Given the description of an element on the screen output the (x, y) to click on. 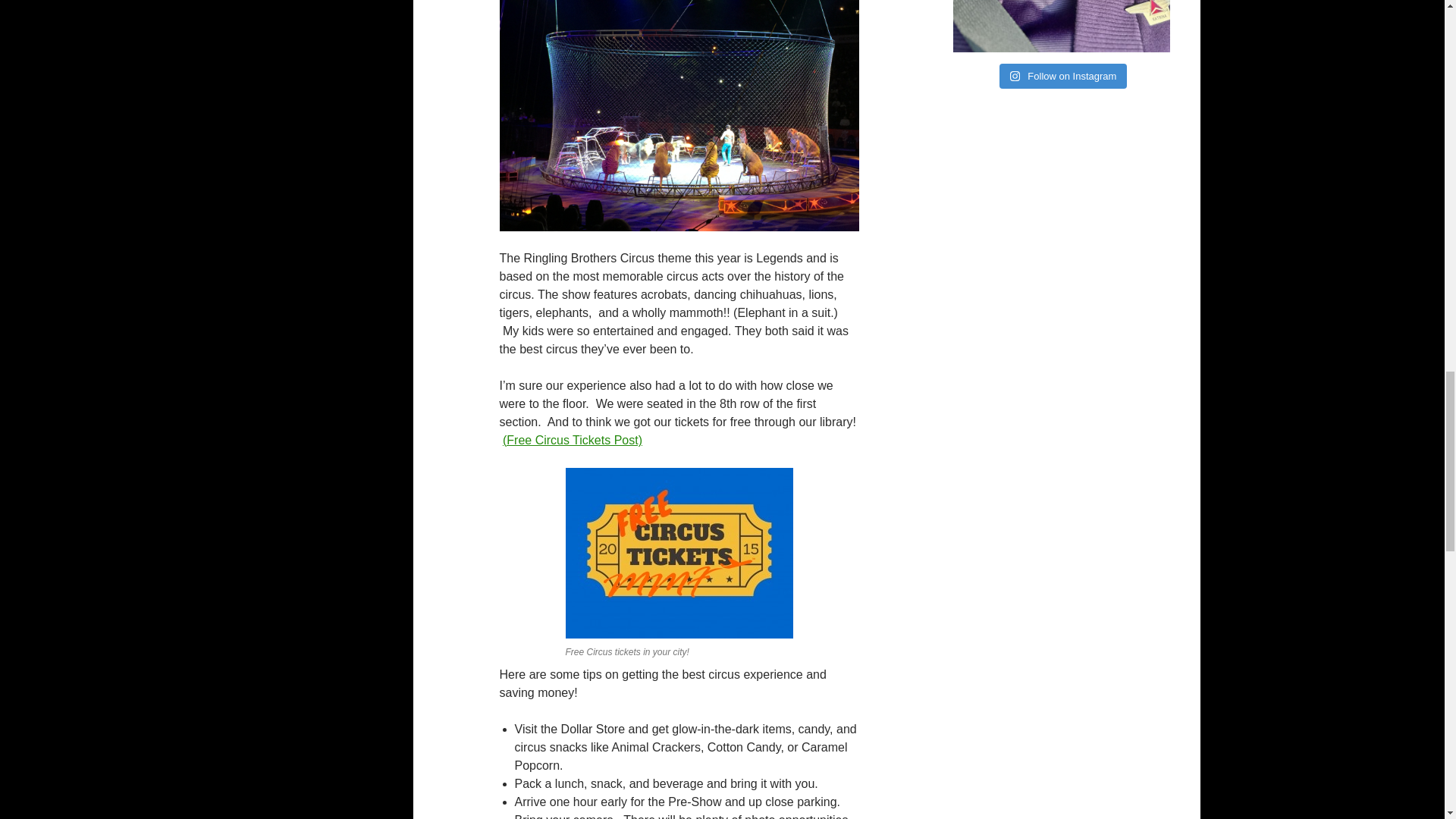
Free Ringling Brothers Circus Tickets (679, 552)
Free Ringling Brothers Circus Tickets (572, 440)
